Given the description of an element on the screen output the (x, y) to click on. 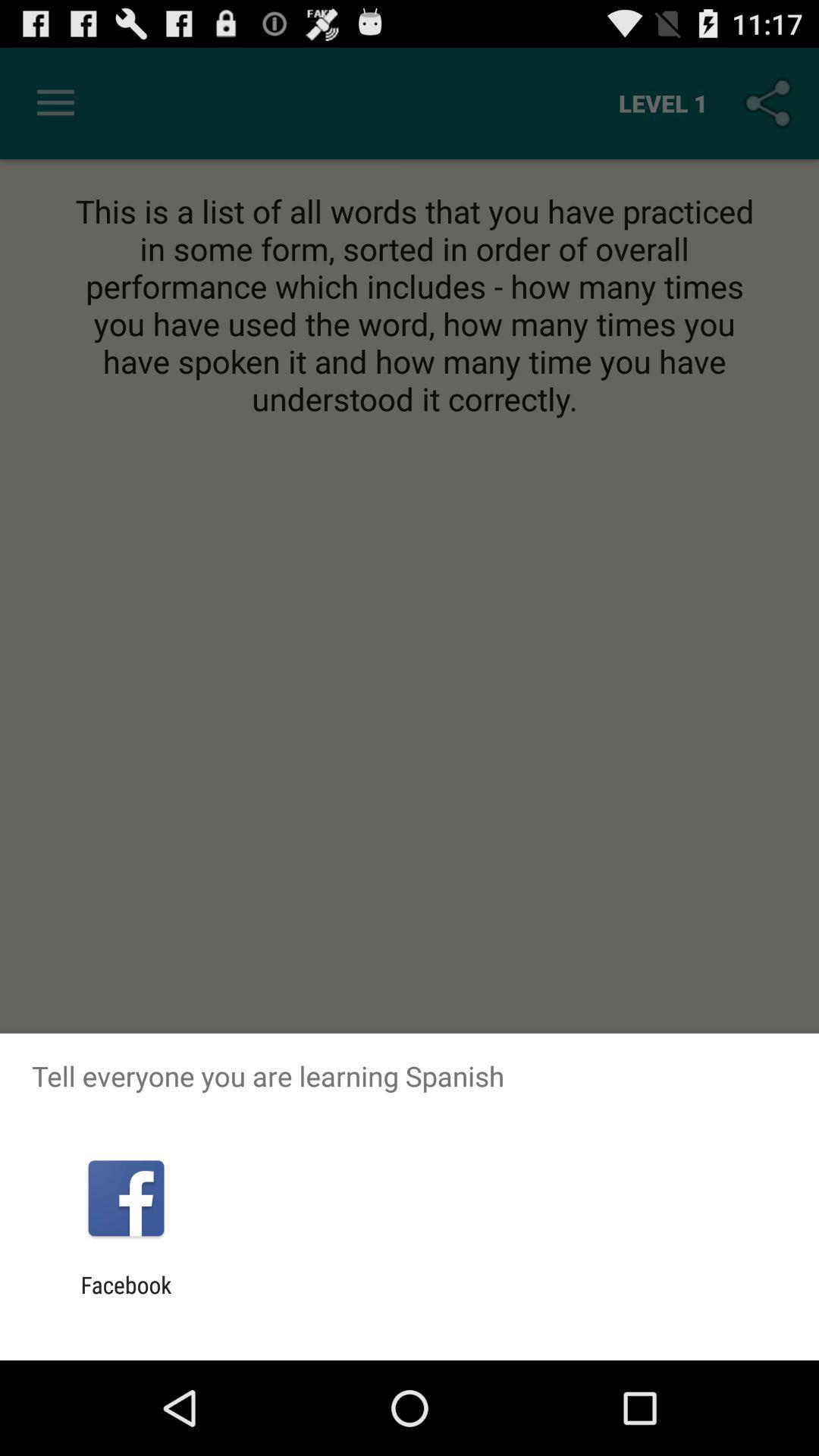
click the facebook icon (125, 1298)
